Given the description of an element on the screen output the (x, y) to click on. 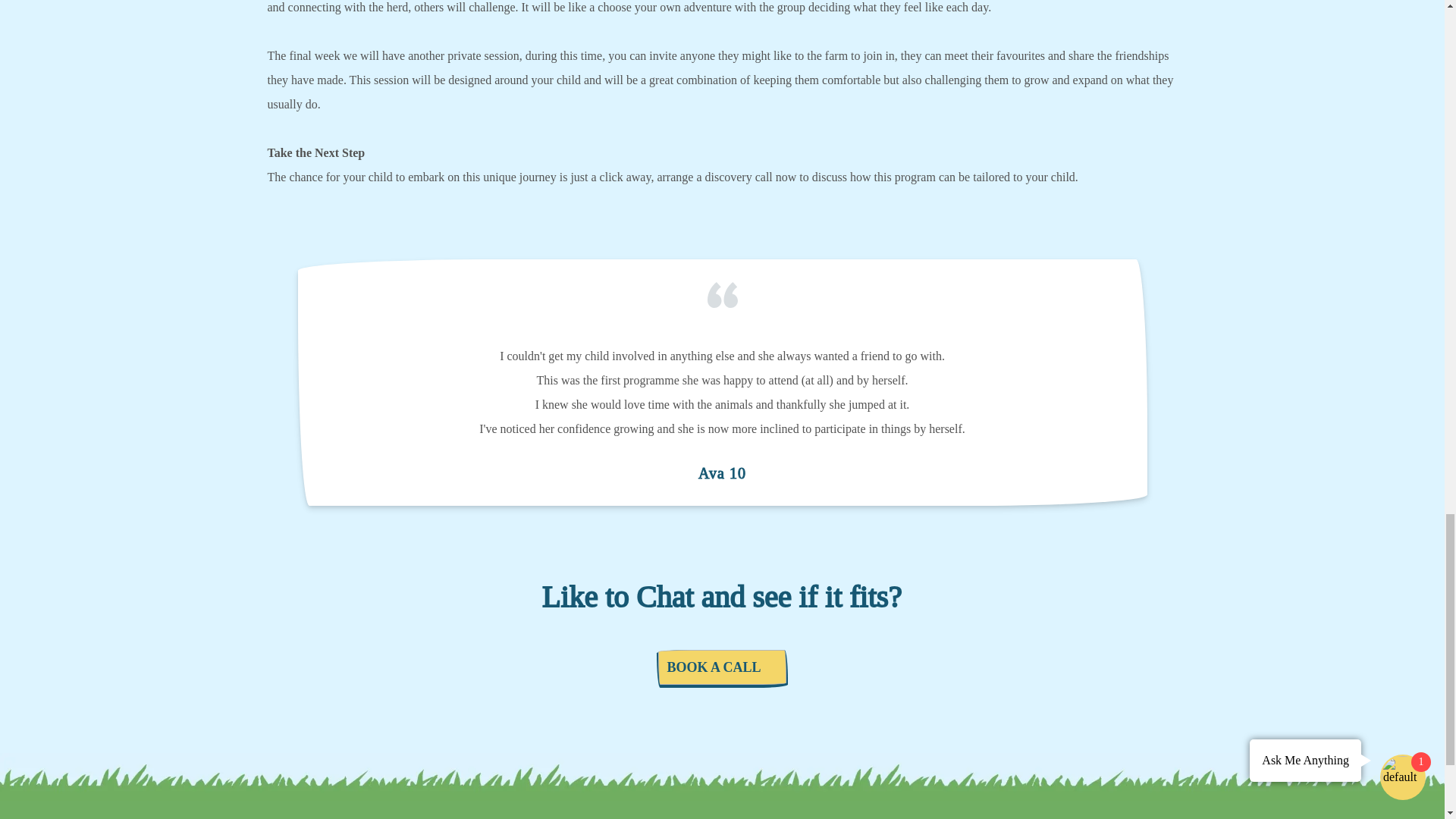
BOOK A CALL (722, 667)
